Given the description of an element on the screen output the (x, y) to click on. 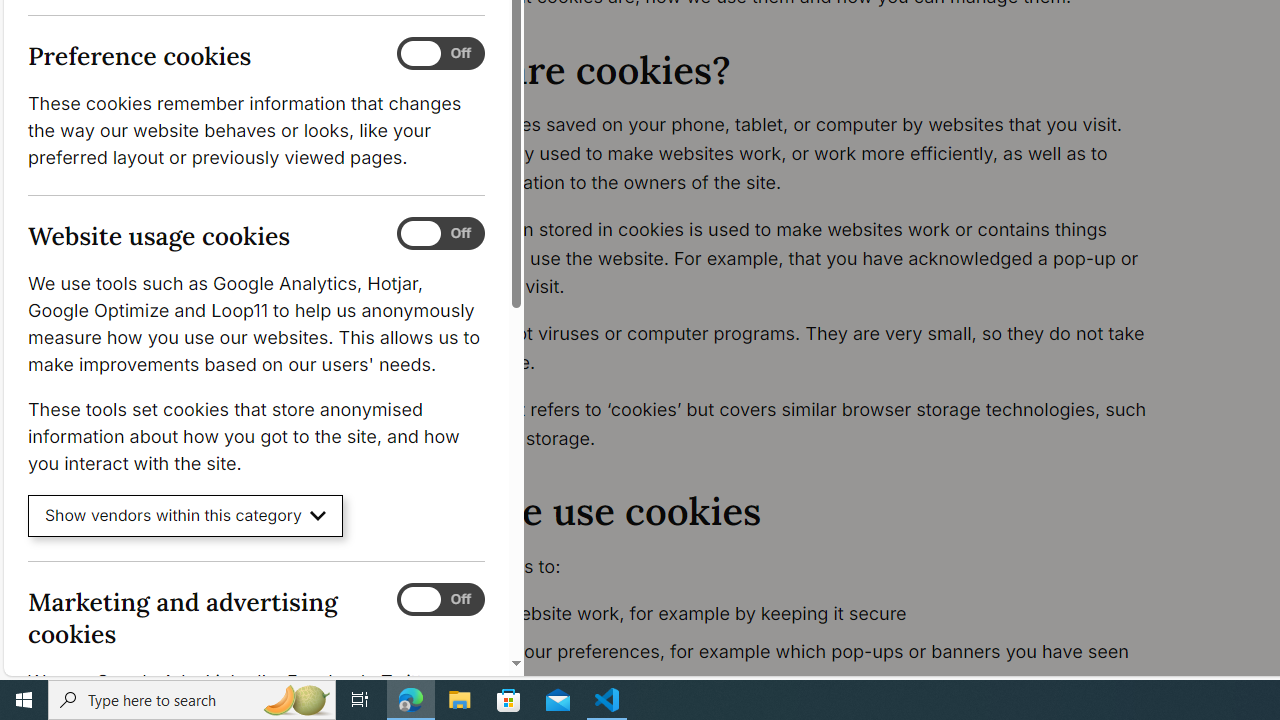
make our website work, for example by keeping it secure (796, 614)
Preference cookies (440, 53)
Website usage cookies (440, 233)
Marketing and advertising cookies (440, 599)
Show vendors within this category (185, 516)
